Given the description of an element on the screen output the (x, y) to click on. 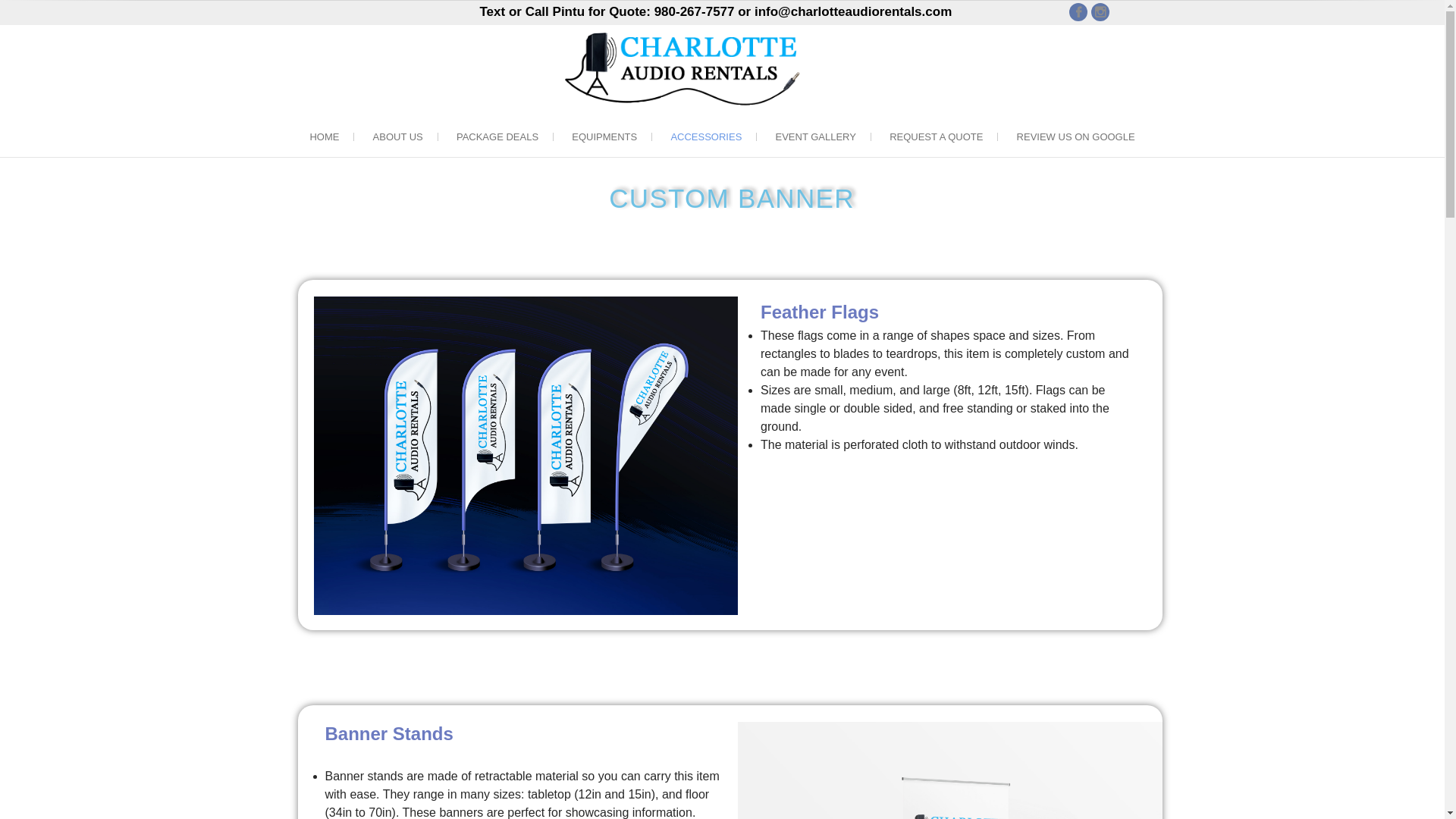
PACKAGE DEALS (497, 136)
REVIEW US ON GOOGLE (1075, 136)
Charlotte Audio Rentals (910, 124)
Charlotte Audio Rentals (910, 124)
980-267-7577 (694, 11)
ACCESSORIES (706, 136)
REQUEST A QUOTE (936, 136)
ABOUT US (398, 136)
EQUIPMENTS (604, 136)
HOME (323, 136)
